Given the description of an element on the screen output the (x, y) to click on. 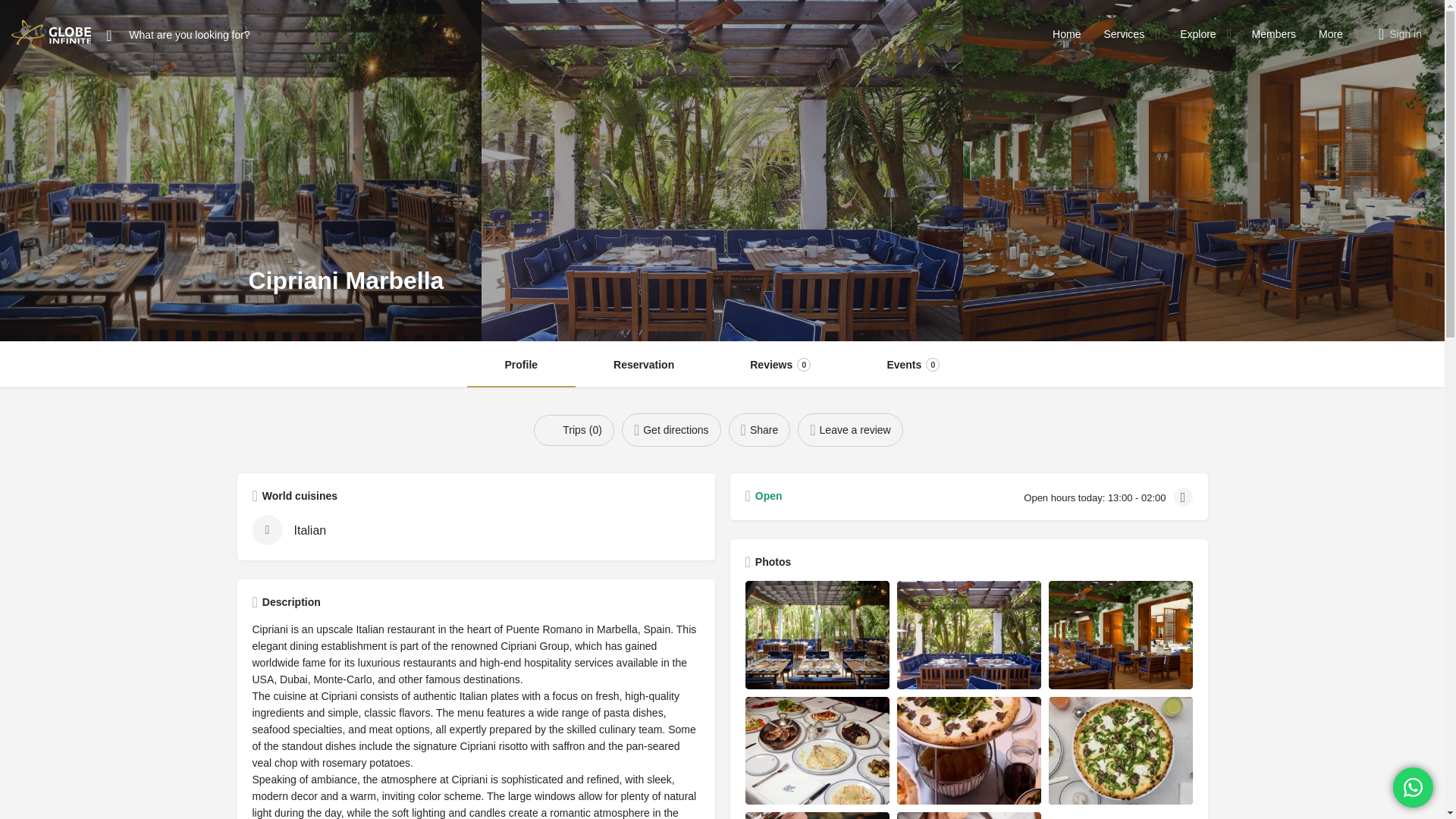
Home (1066, 33)
Services (1123, 33)
Explore (1197, 33)
Members (1273, 33)
Sign in (1405, 33)
Bookmark This (574, 429)
Cipriani Marbella (1120, 634)
Cipriani Marbella (968, 634)
Cipriani Marbella (816, 634)
